Given the description of an element on the screen output the (x, y) to click on. 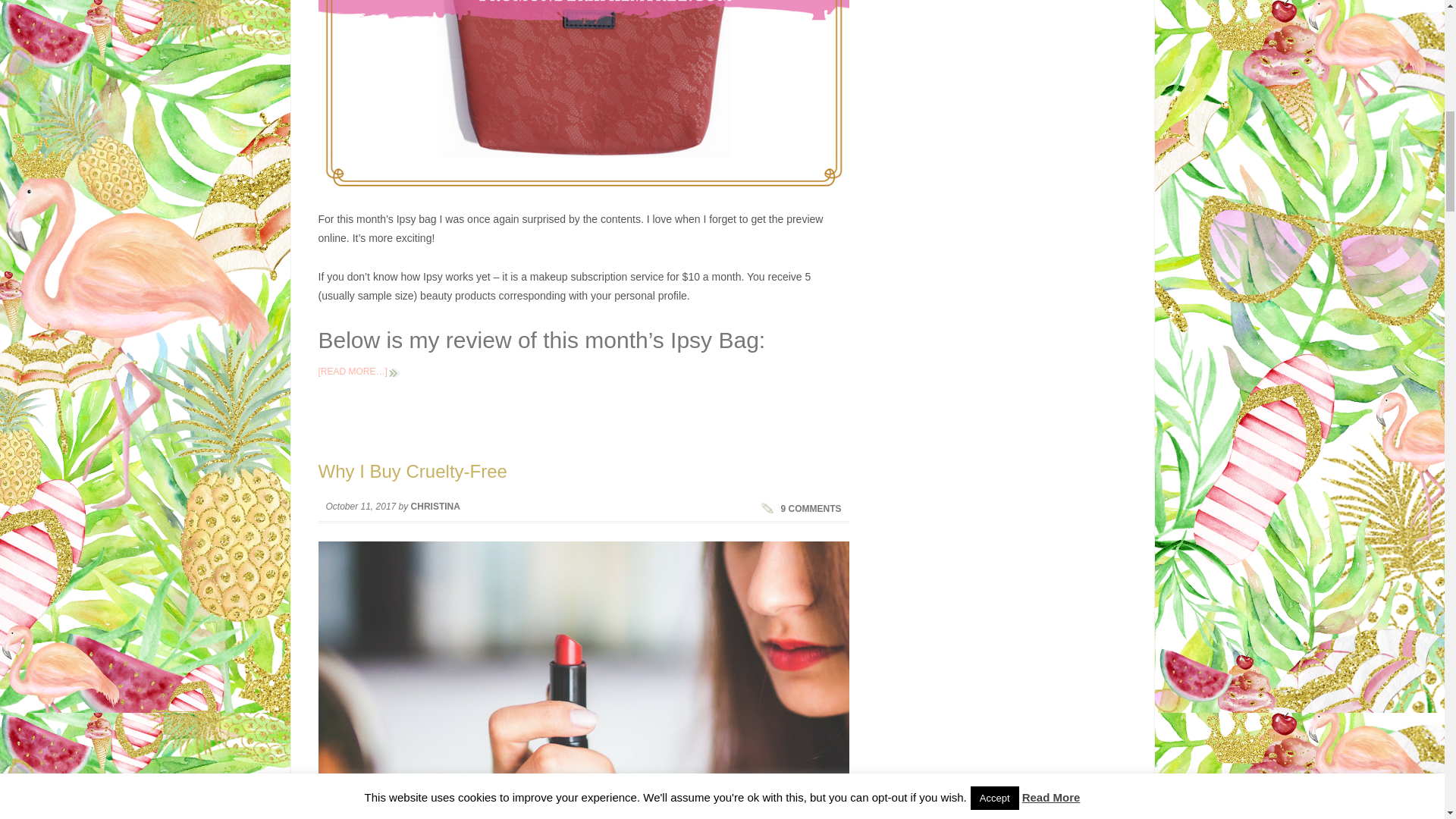
Advertisement (1000, 623)
